Given the description of an element on the screen output the (x, y) to click on. 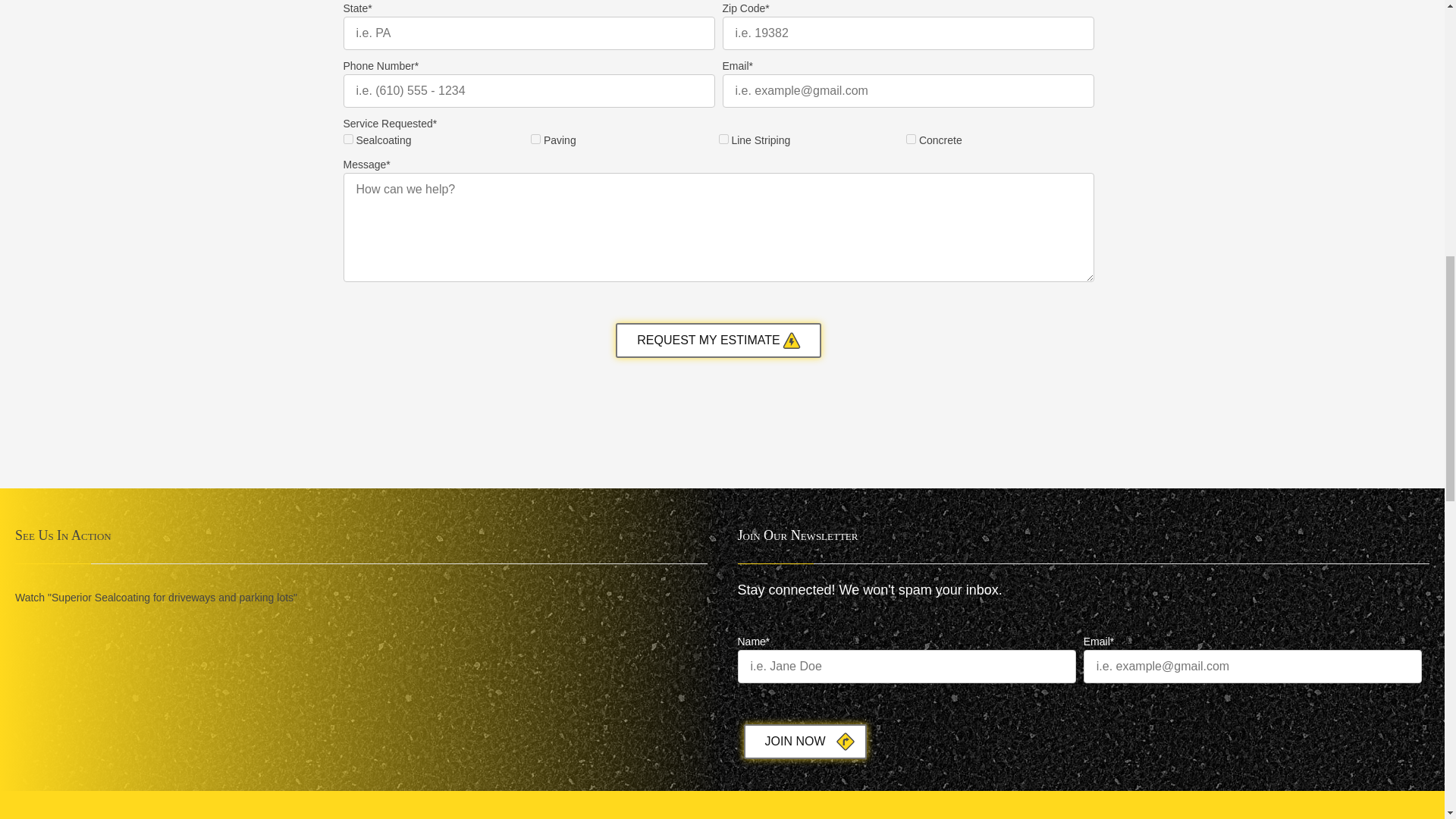
JOIN NOW (804, 741)
Paving (535, 139)
REQUEST MY ESTIMATE (718, 339)
Watch "Superior Sealcoating for driveways and parking lots" (155, 597)
Line Striping (724, 139)
Request My Estimate (718, 339)
Sealcoating (347, 139)
Concrete (910, 139)
